Given the description of an element on the screen output the (x, y) to click on. 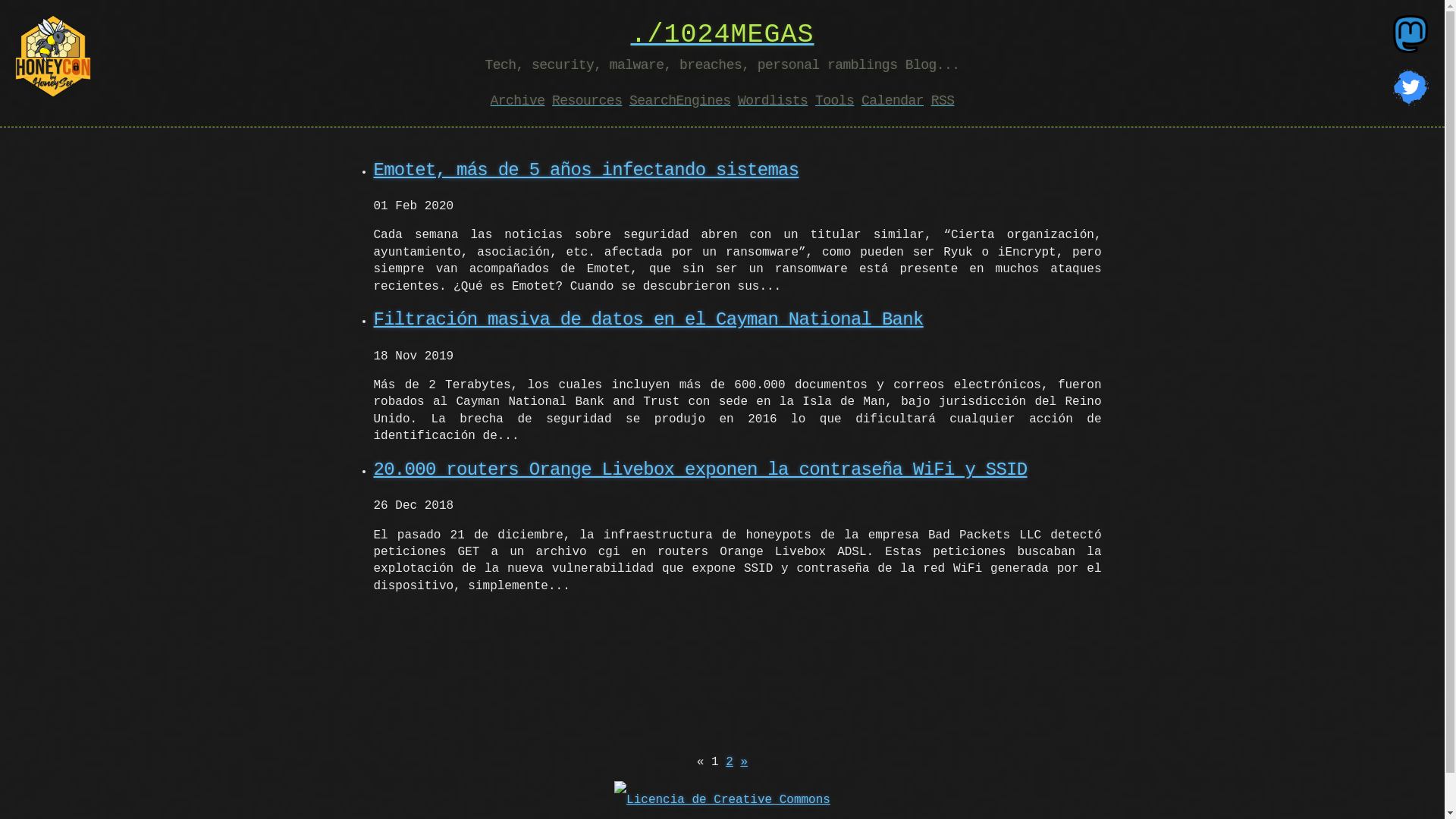
Archive Element type: text (517, 100)
./1024MEGAS Element type: text (722, 35)
Calendar Element type: text (892, 100)
Wordlists Element type: text (772, 100)
Resources Element type: text (586, 100)
2 Element type: text (729, 761)
Tools Element type: text (834, 100)
SearchEngines Element type: text (679, 100)
RSS Element type: text (942, 100)
